Given the description of an element on the screen output the (x, y) to click on. 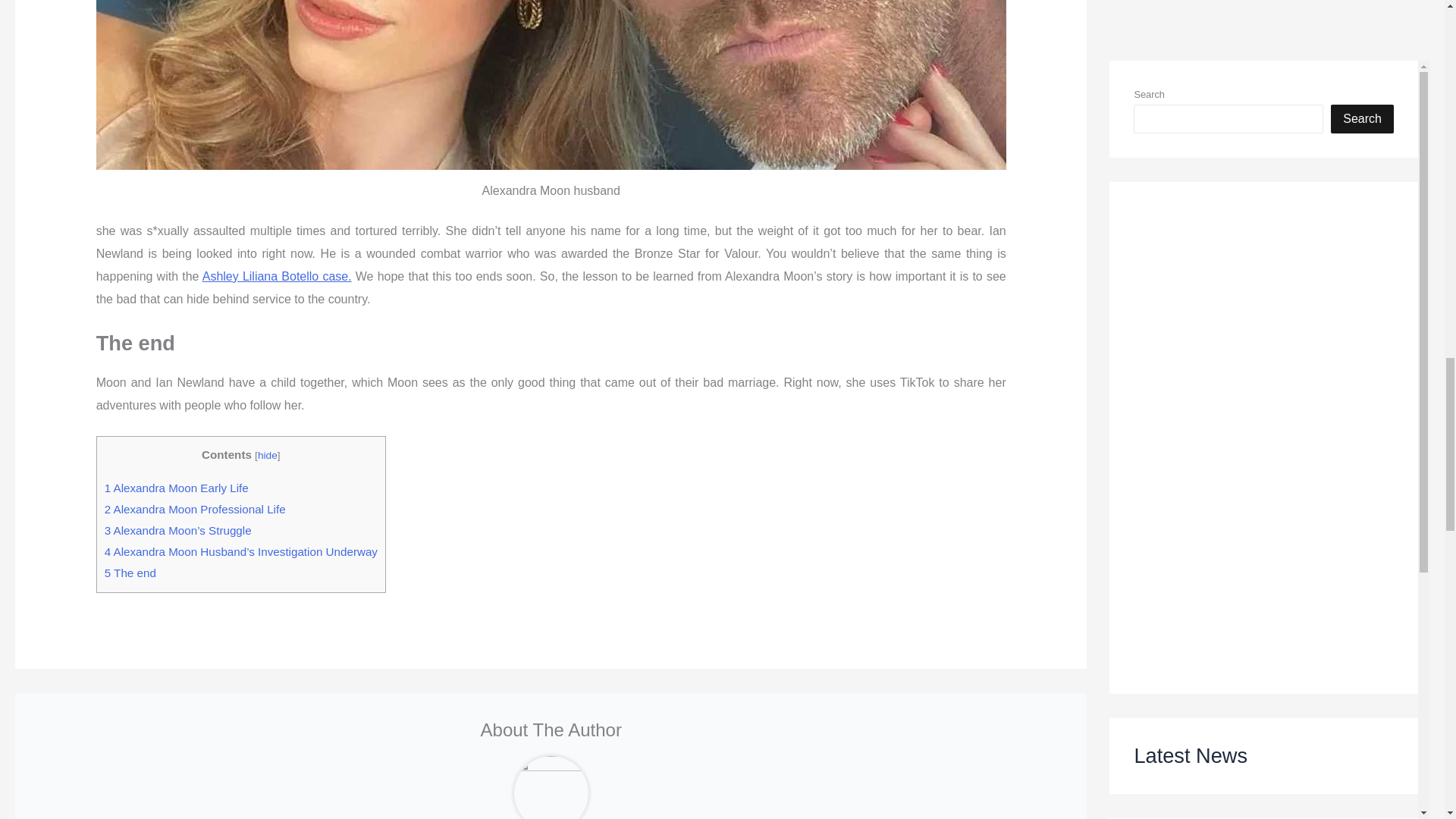
Ashley Liliana Botello case. (277, 276)
hide (267, 455)
5 The end (129, 572)
2 Alexandra Moon Professional Life (194, 508)
1 Alexandra Moon Early Life (176, 487)
